Given the description of an element on the screen output the (x, y) to click on. 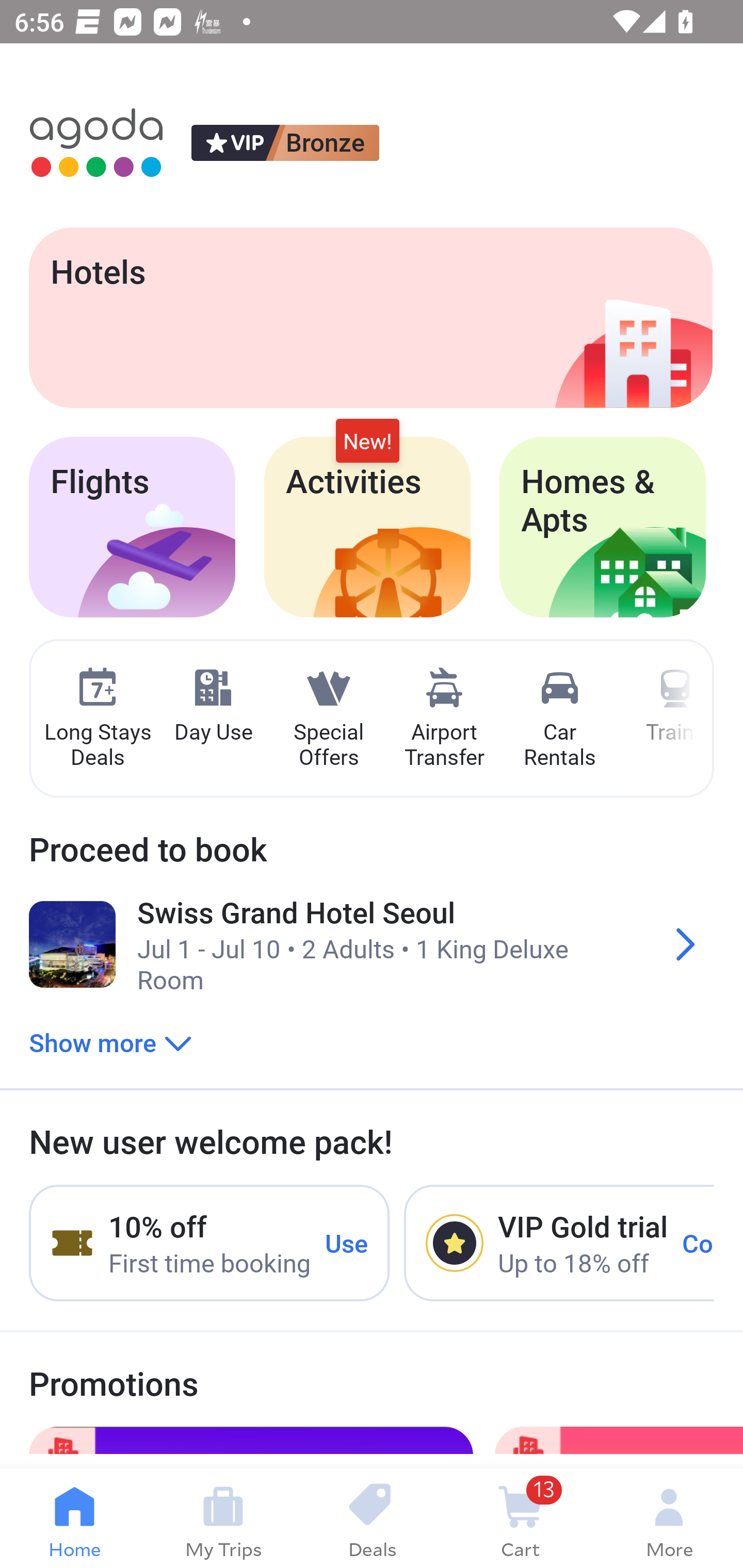
Hotels (370, 317)
New! (367, 441)
Flights (131, 527)
Activities (367, 527)
Homes & Apts (602, 527)
Day Use (213, 706)
Long Stays Deals (97, 718)
Special Offers (328, 718)
Airport Transfer (444, 718)
Car Rentals (559, 718)
Show more (110, 1041)
Use (346, 1242)
Home (74, 1518)
My Trips (222, 1518)
Deals (371, 1518)
13 Cart (519, 1518)
More (668, 1518)
